Given the description of an element on the screen output the (x, y) to click on. 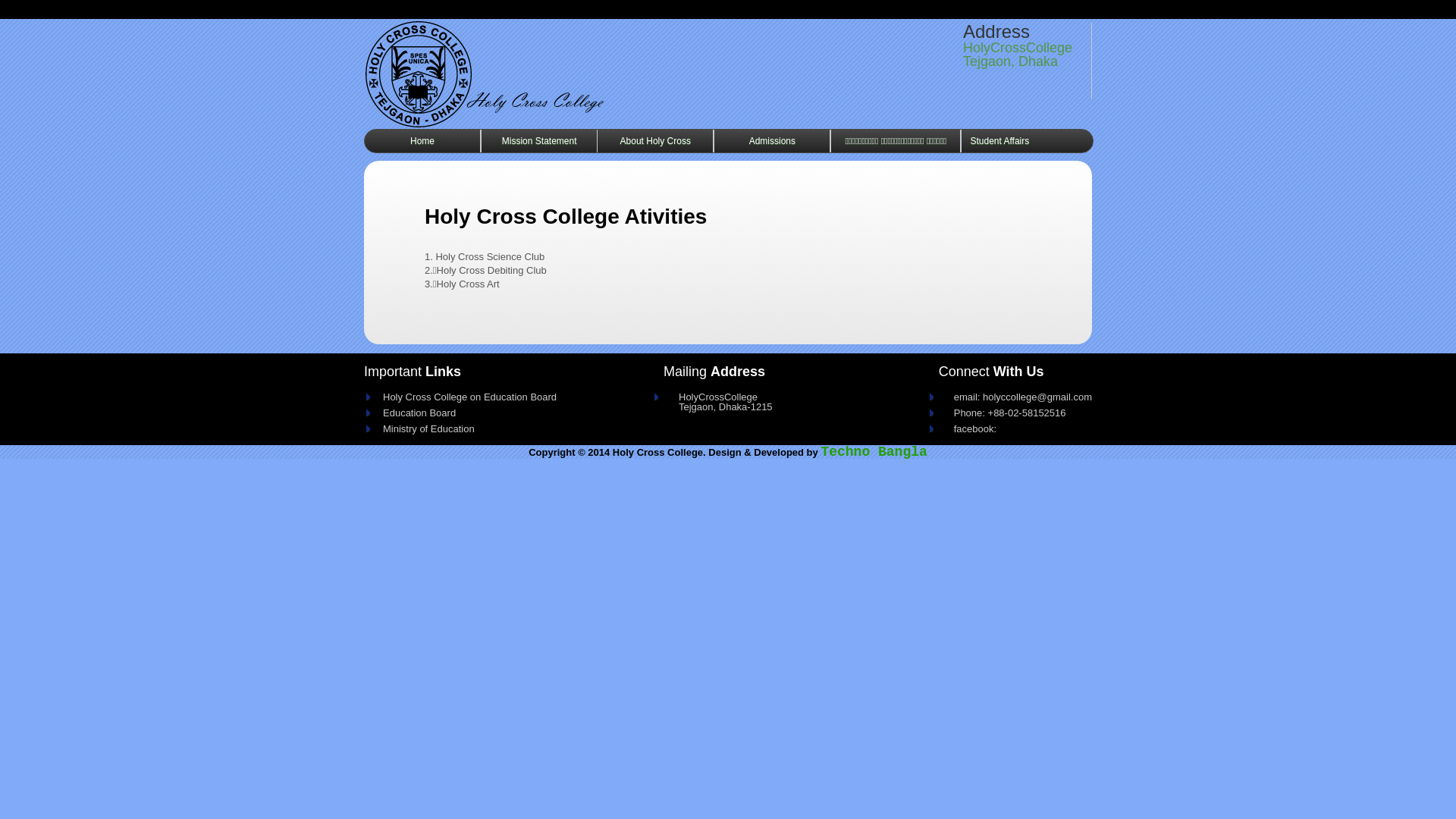
facebook: Element type: text (1015, 425)
email: holyccollege@gmail.com Element type: text (1015, 393)
Ministry of Education Element type: text (490, 425)
Home Element type: text (422, 140)
  Element type: text (547, 73)
HolyCrossCollege
Tejgaon, Dhaka-1215 Element type: text (746, 398)
Techno Bangla Element type: text (873, 451)
HolyCrossCollege Element type: hover (547, 73)
Student Affairs Element type: text (999, 140)
Mission Statement Element type: text (538, 140)
Education Board Element type: text (490, 409)
Holy Cross College on Education Board Element type: text (490, 393)
Admissions Element type: text (771, 140)
About Holy Cross Element type: text (654, 140)
Phone: +88-02-58152516 Element type: text (1015, 409)
